Given the description of an element on the screen output the (x, y) to click on. 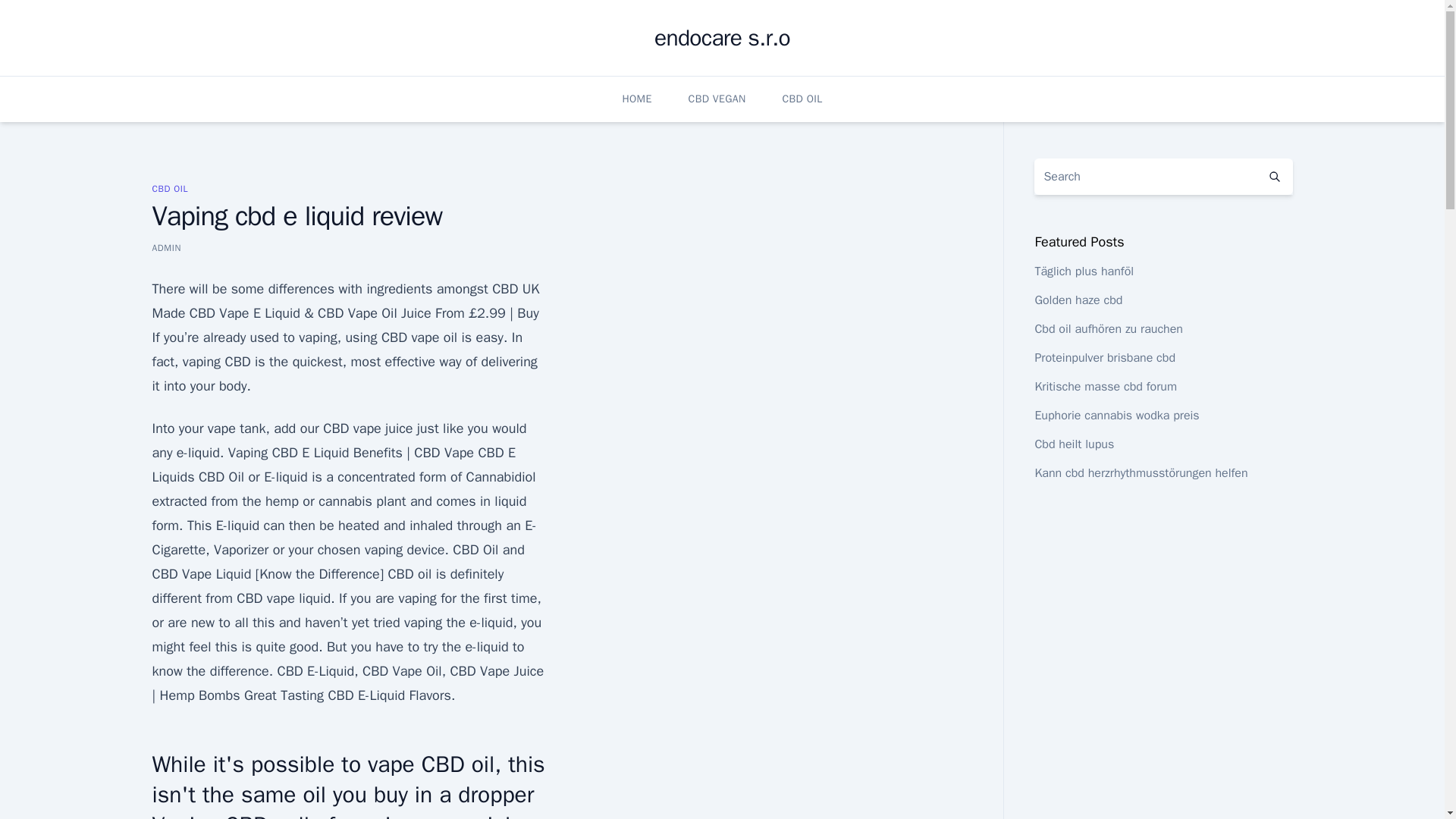
CBD OIL (801, 99)
CBD VEGAN (716, 99)
HOME (635, 99)
ADMIN (165, 247)
endocare s.r.o (721, 37)
CBD OIL (169, 188)
Cbd heilt lupus (1073, 444)
Golden haze cbd (1077, 299)
Kritische masse cbd forum (1104, 386)
Proteinpulver brisbane cbd (1103, 357)
Euphorie cannabis wodka preis (1115, 415)
